Given the description of an element on the screen output the (x, y) to click on. 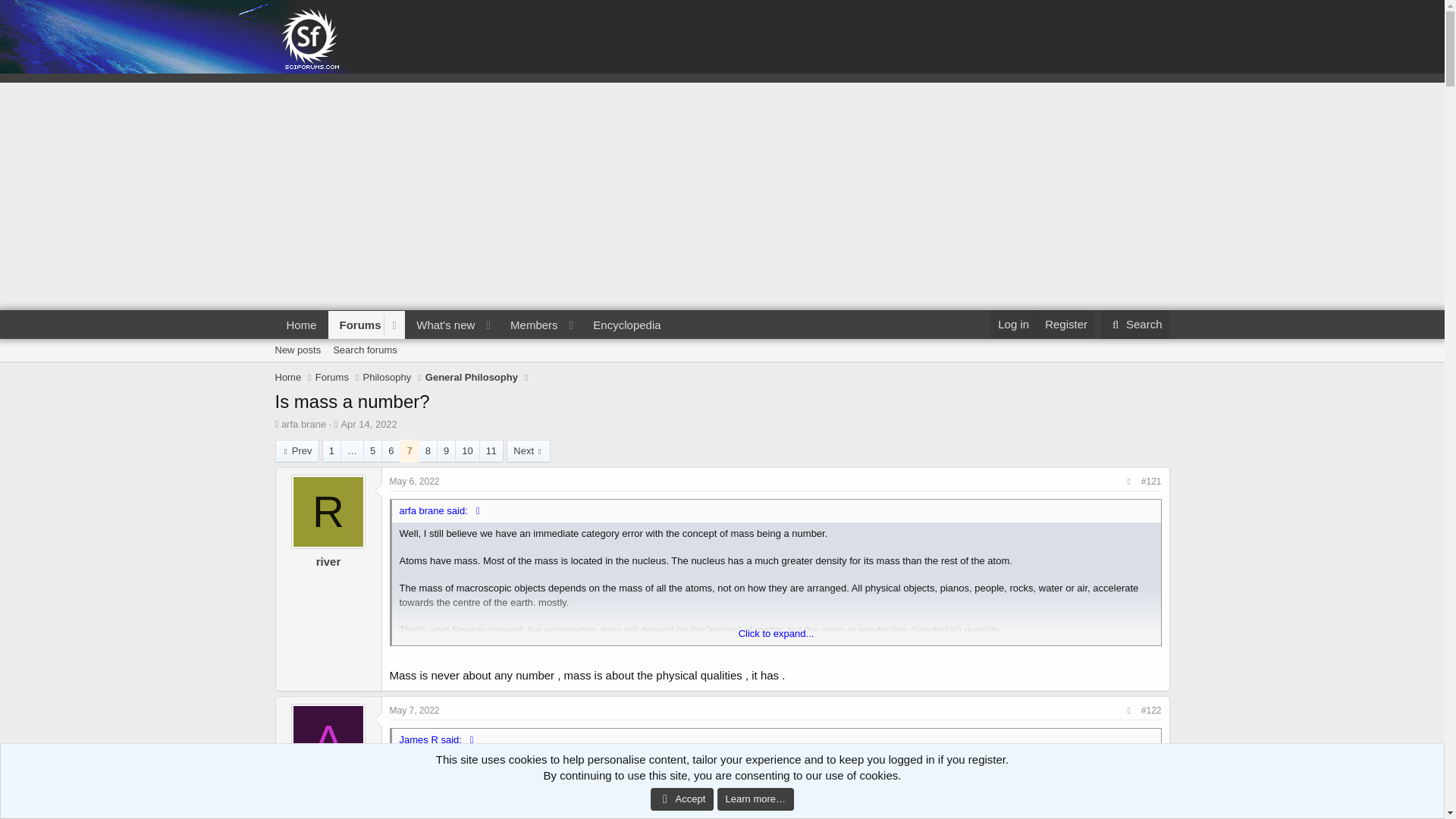
Log in (1013, 324)
Members (720, 367)
Philosophy (529, 325)
Search forums (387, 377)
arfa brane (364, 350)
Encyclopedia (303, 423)
Home (625, 325)
Apr 14, 2022 (301, 325)
